Given the description of an element on the screen output the (x, y) to click on. 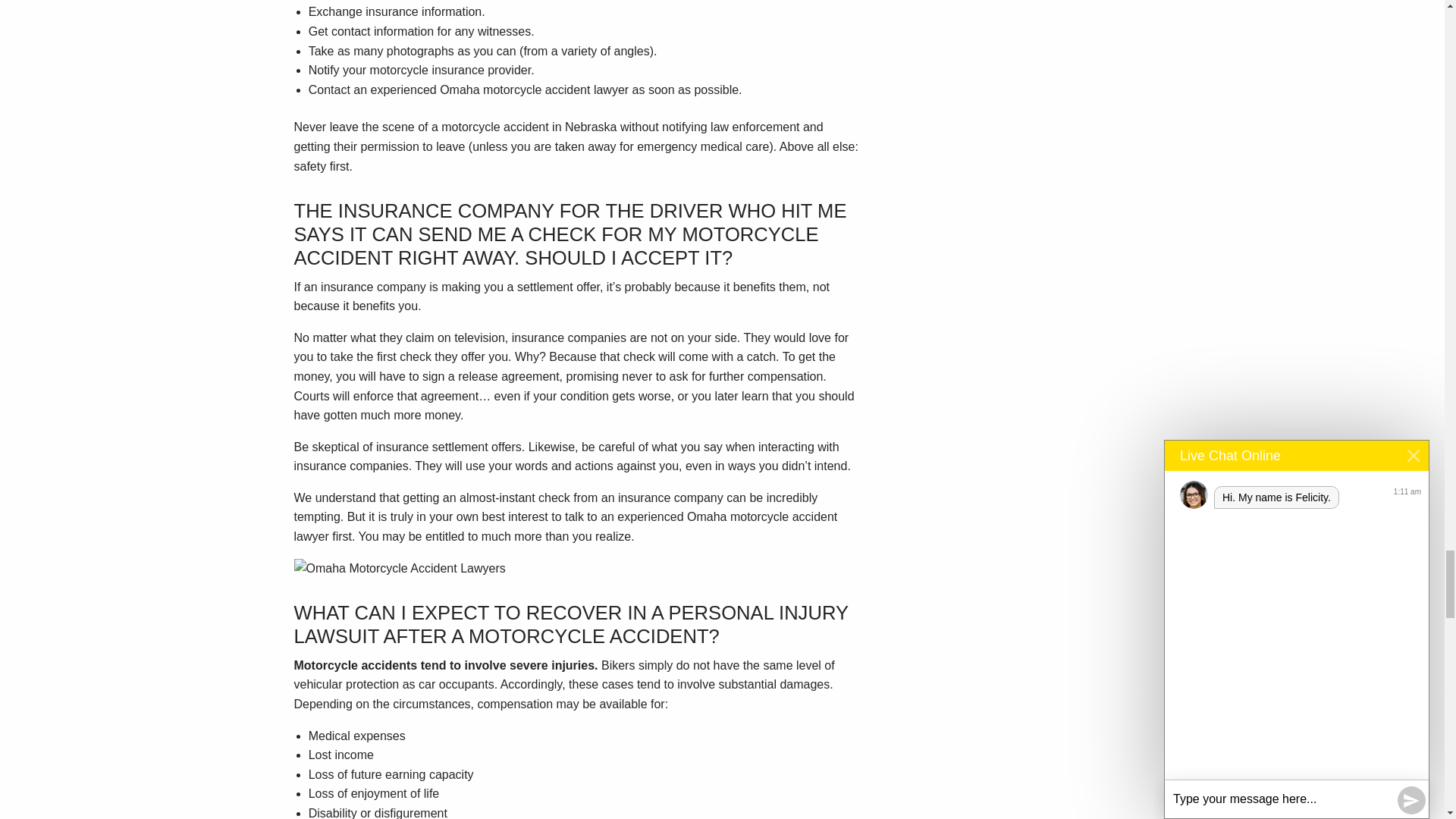
common injuries in motorcycle accidents (399, 568)
